Given the description of an element on the screen output the (x, y) to click on. 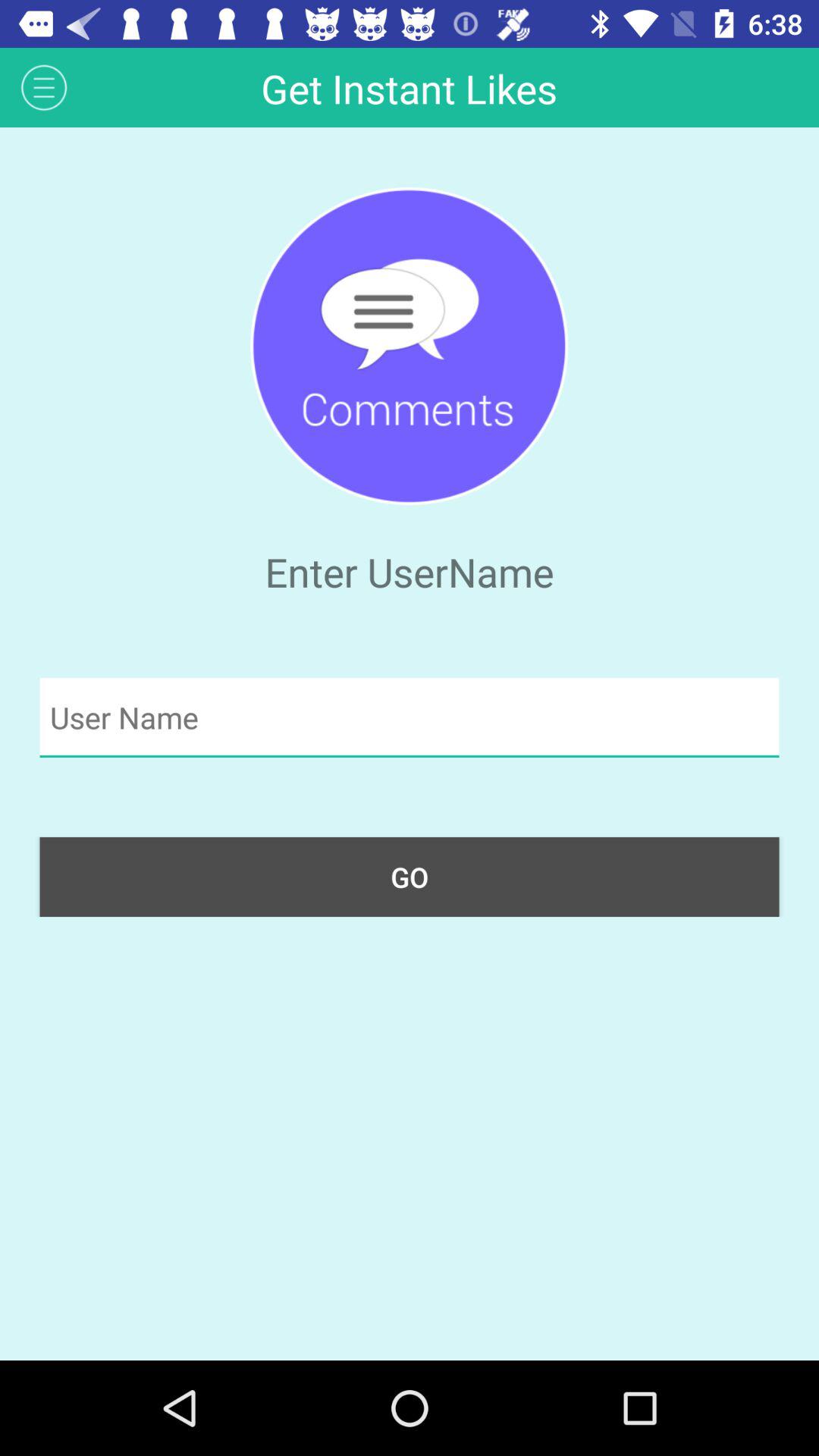
swipe to go icon (409, 876)
